Given the description of an element on the screen output the (x, y) to click on. 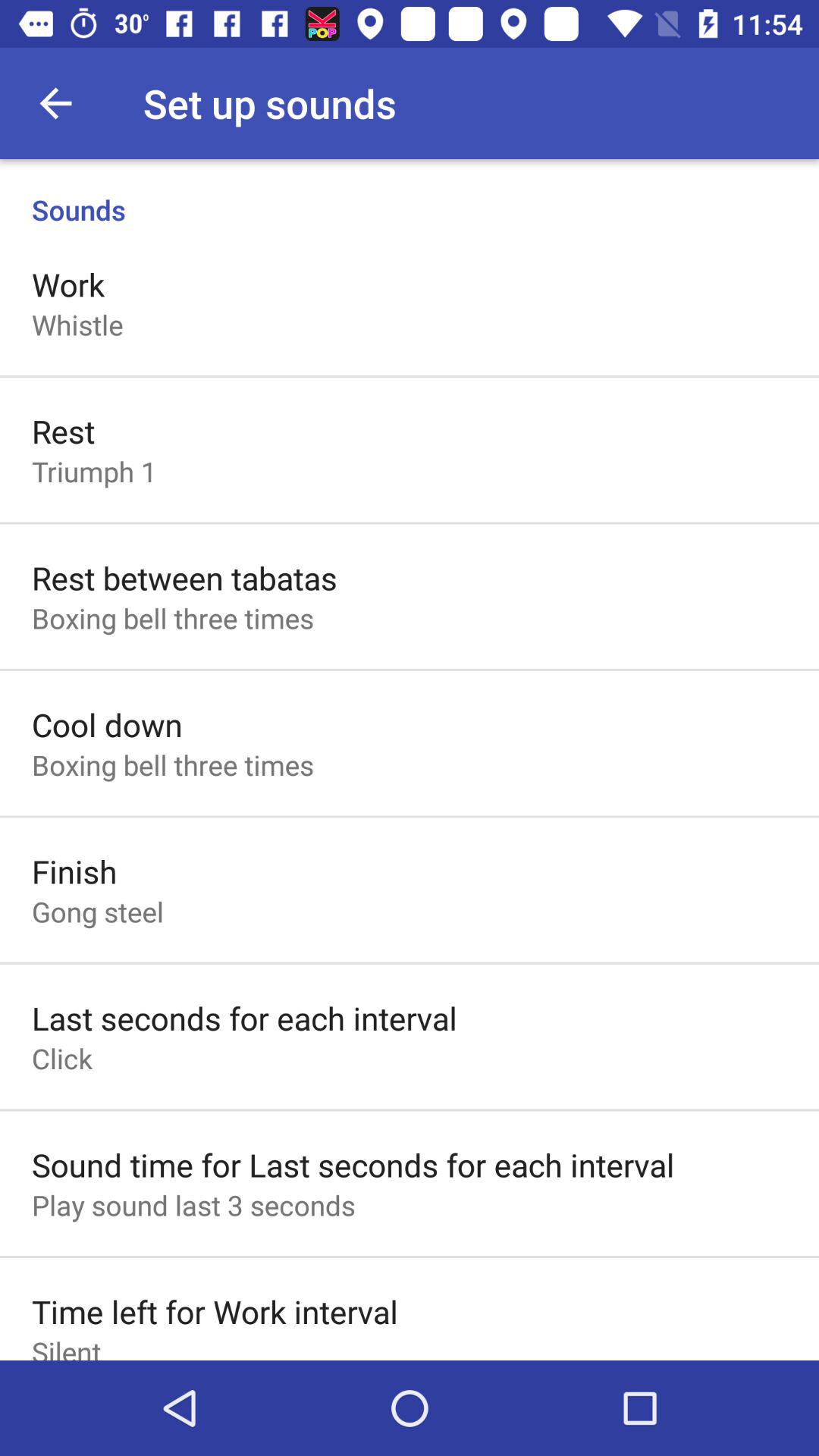
tap silent (66, 1346)
